Given the description of an element on the screen output the (x, y) to click on. 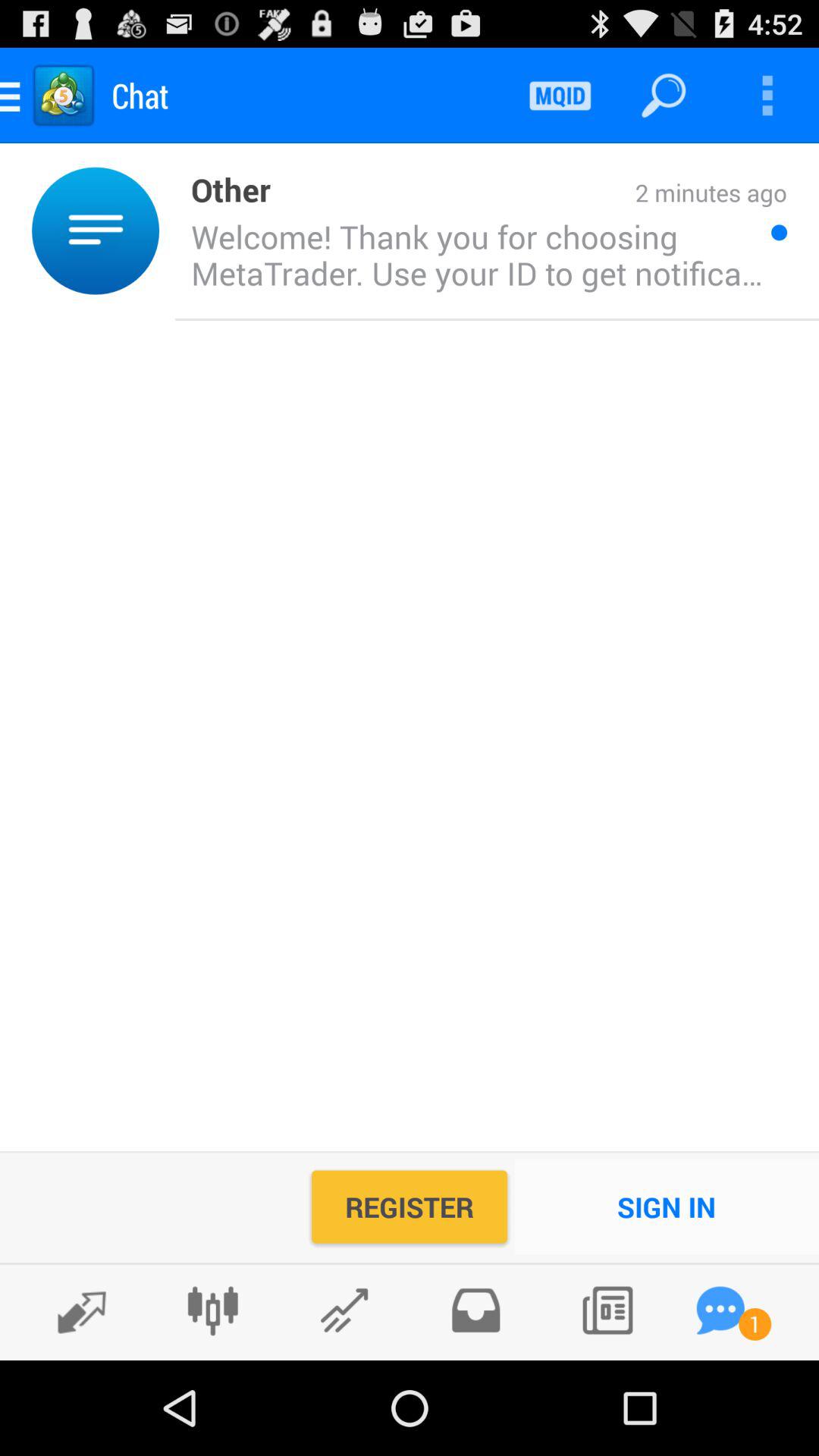
turn off sign in icon (666, 1206)
